Given the description of an element on the screen output the (x, y) to click on. 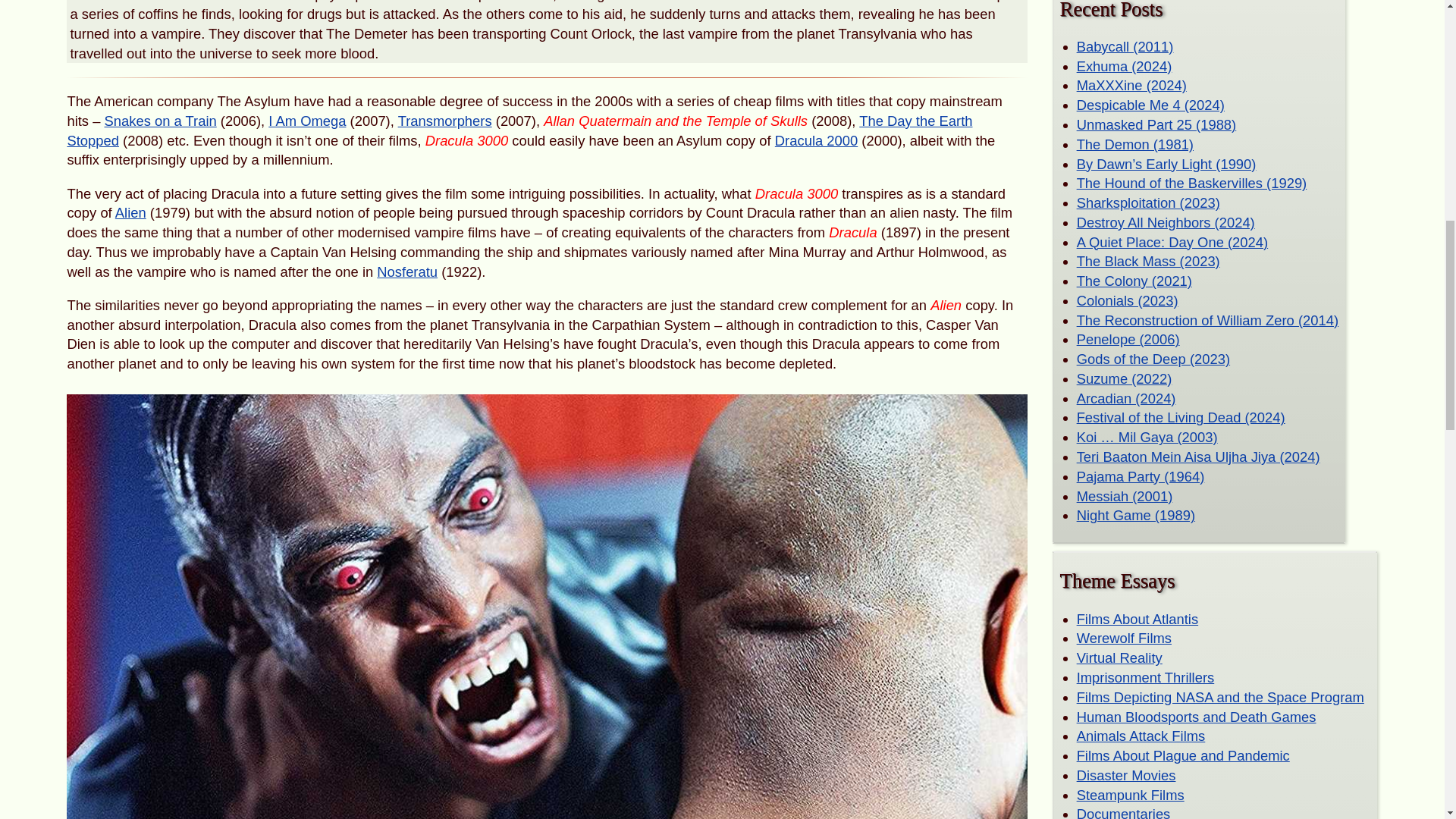
Dracula 2000 (815, 140)
I Am Omega (306, 120)
Transmorphers (444, 120)
The Day the Earth Stopped (519, 130)
Snakes on a Train (160, 120)
